Given the description of an element on the screen output the (x, y) to click on. 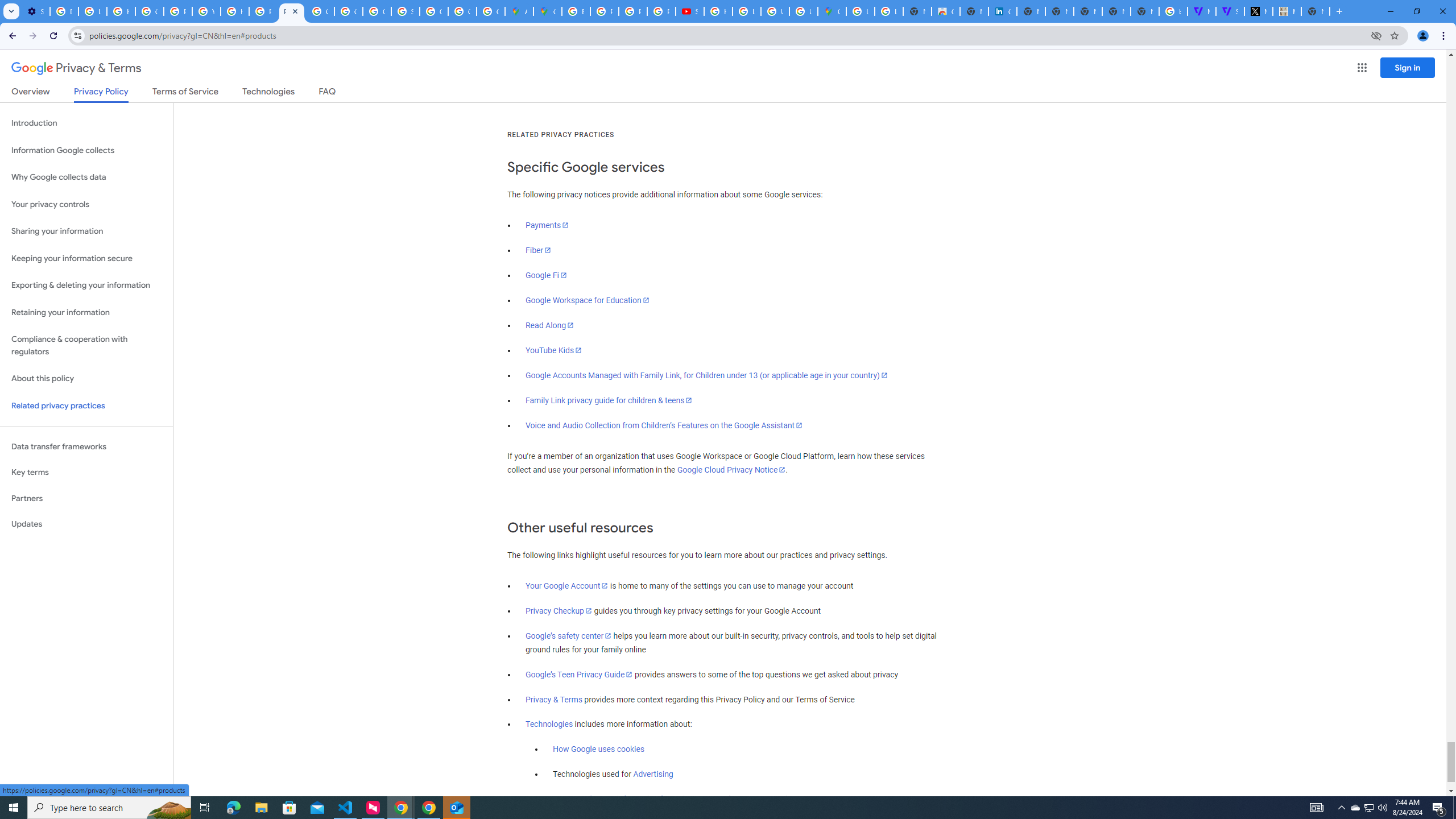
Google Maps (547, 11)
Privacy Checkup (558, 610)
Settings - Customize profile (35, 11)
Streaming - The Verge (1230, 11)
Google Fi (545, 275)
Privacy Help Center - Policies Help (263, 11)
Read Along (550, 325)
Google Maps (831, 11)
